Given the description of an element on the screen output the (x, y) to click on. 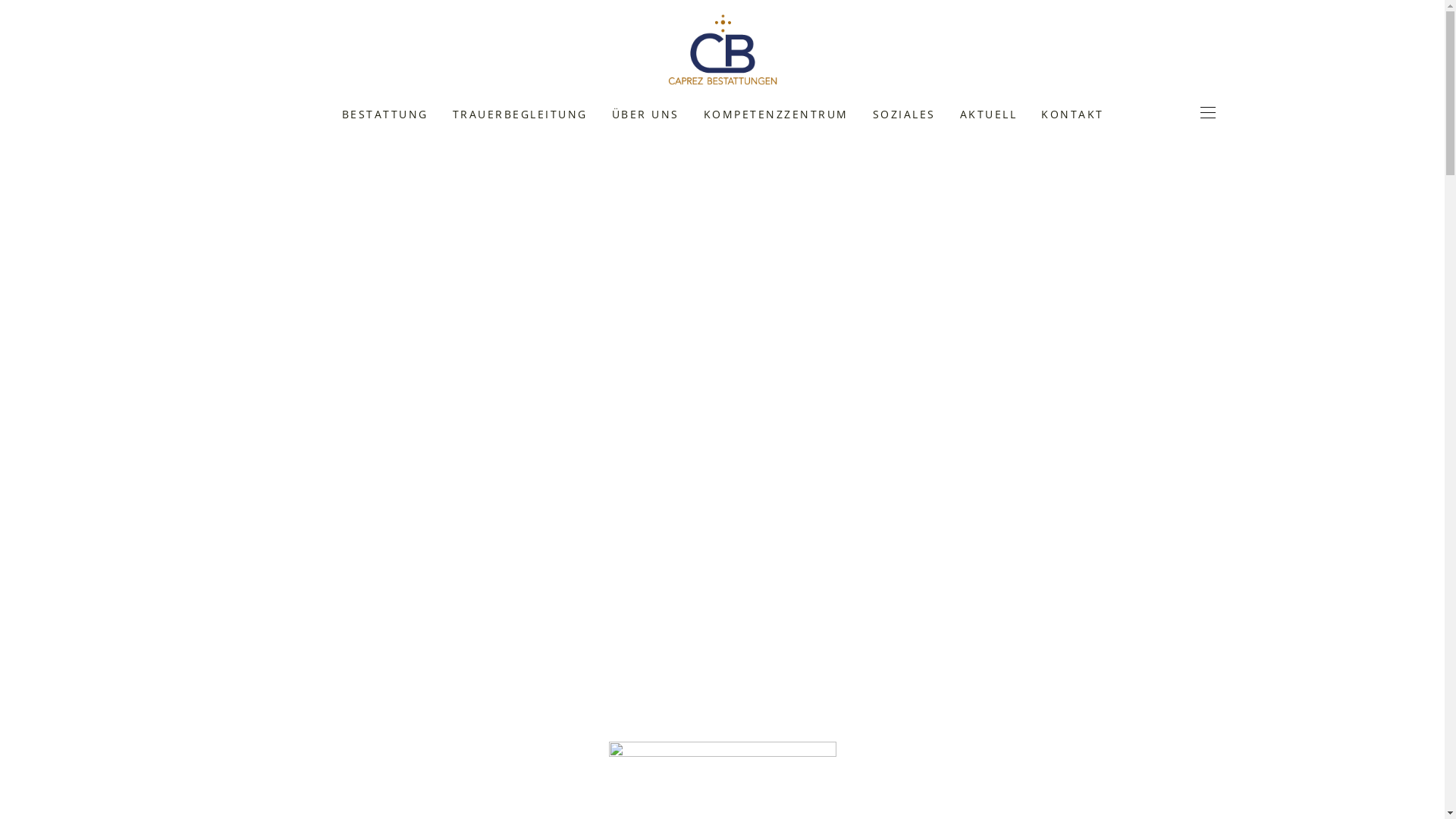
KONTAKT Element type: text (1072, 112)
AKTUELL Element type: text (988, 112)
TRAUERBEGLEITUNG Element type: text (519, 112)
SOZIALES Element type: text (903, 112)
KOMPETENZZENTRUM Element type: text (775, 112)
BESTATTUNG Element type: text (384, 112)
